Given the description of an element on the screen output the (x, y) to click on. 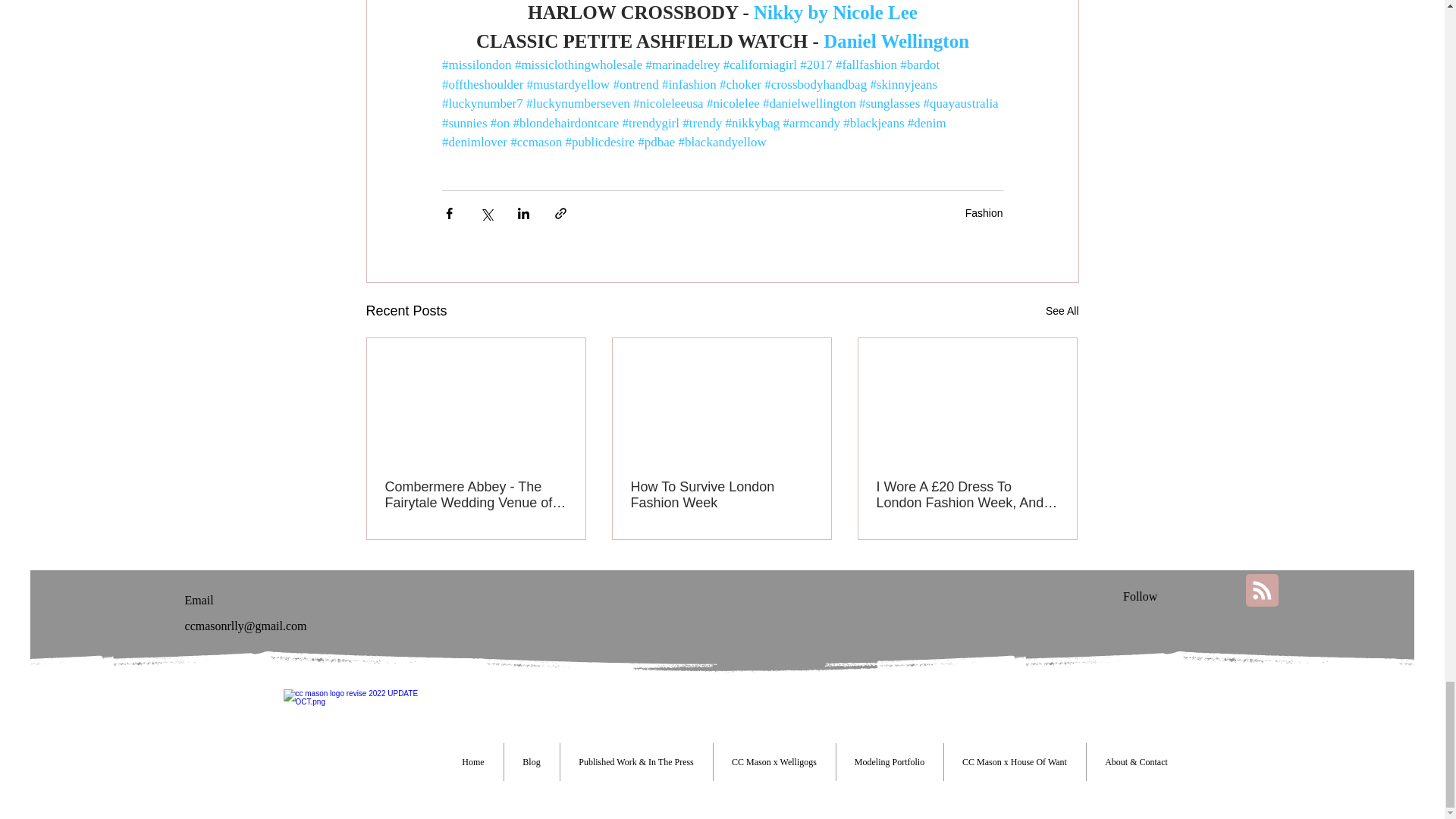
 Nikky by Nicole Lee (832, 12)
Daniel Wellington (896, 41)
